Given the description of an element on the screen output the (x, y) to click on. 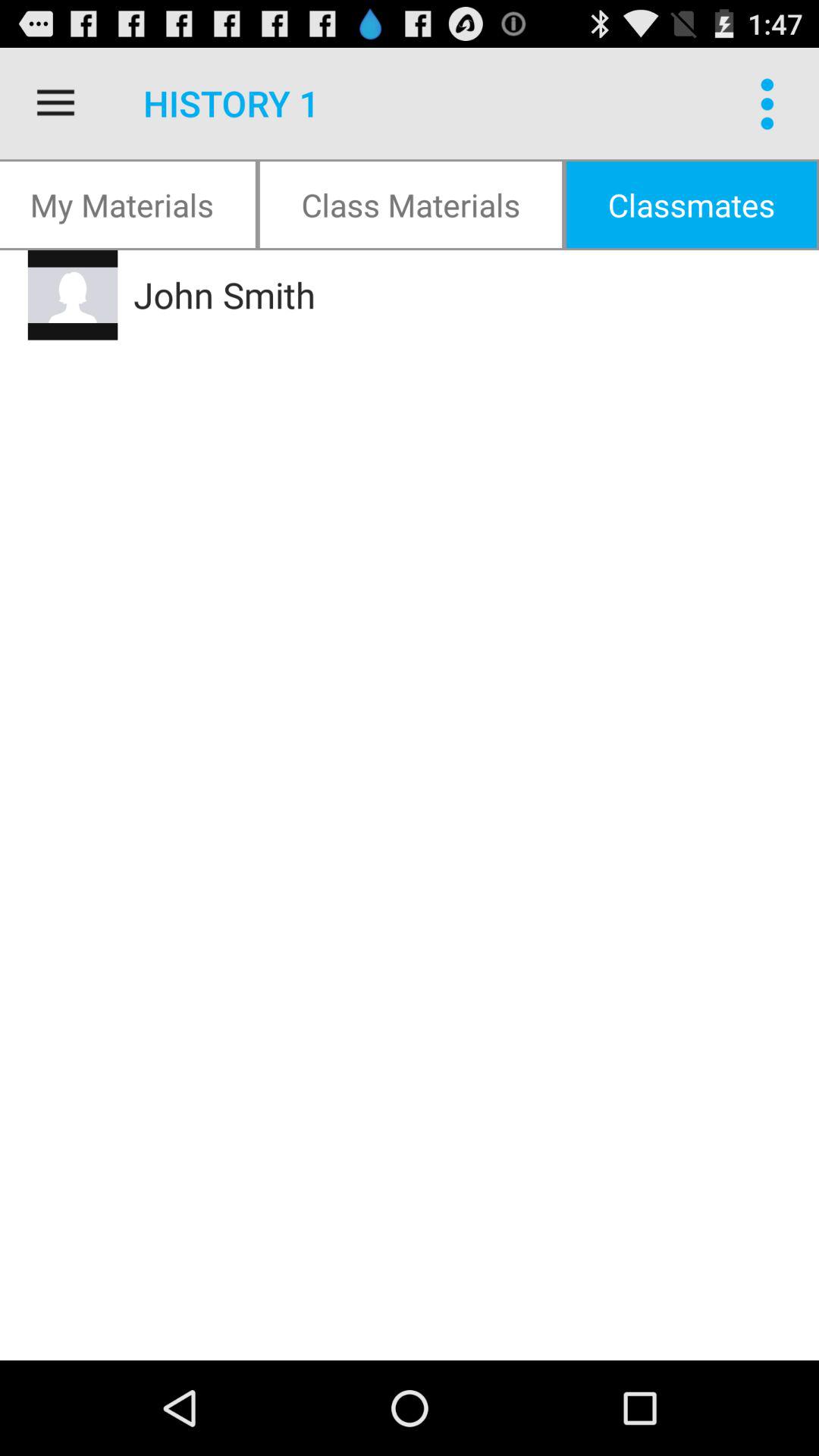
tap the icon to the right of the class materials icon (771, 103)
